Given the description of an element on the screen output the (x, y) to click on. 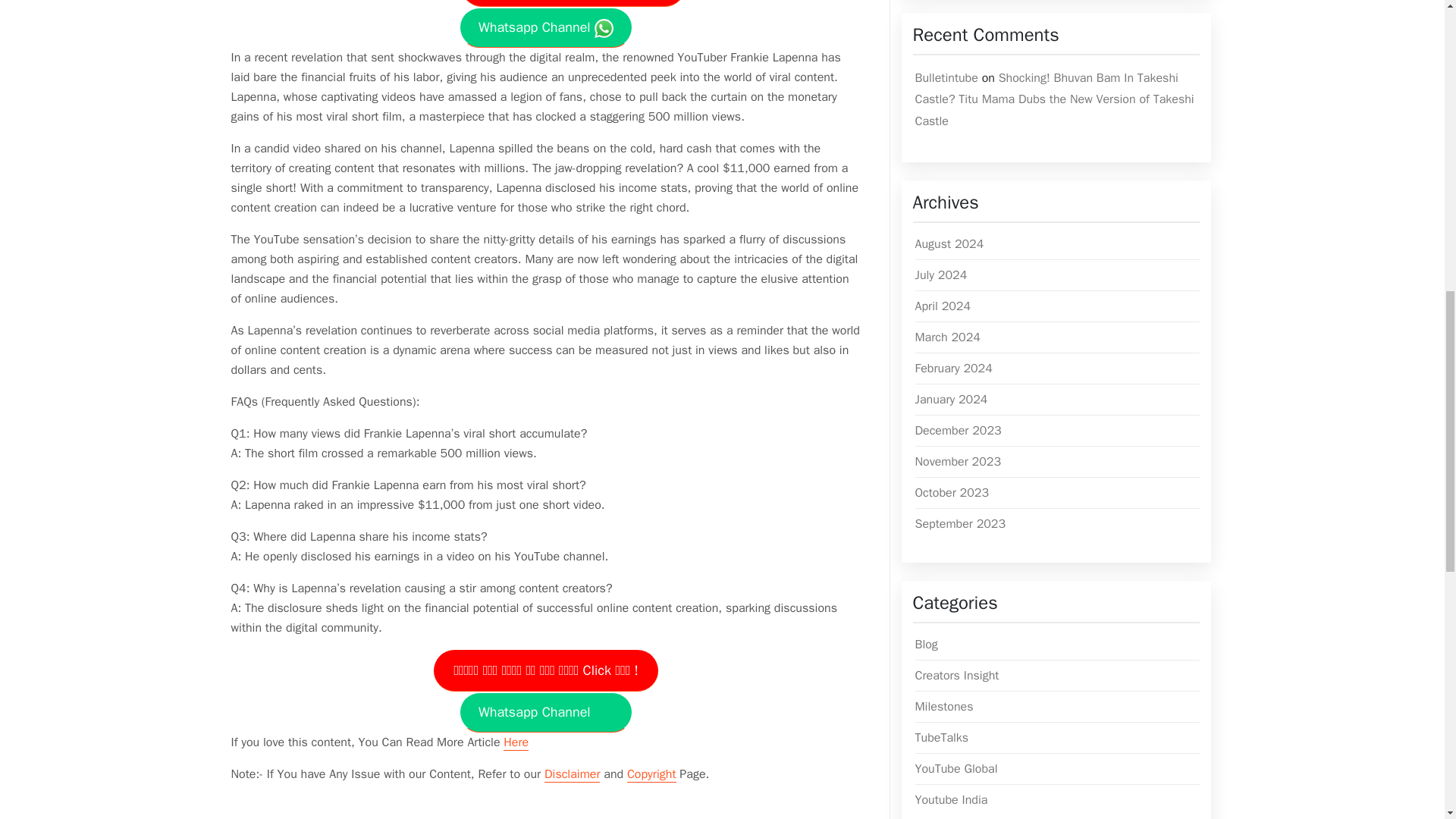
Disclaimer (571, 774)
Copyright (652, 774)
Here (515, 742)
Whatsapp Channel (545, 26)
Whatsapp Channel (545, 711)
